Given the description of an element on the screen output the (x, y) to click on. 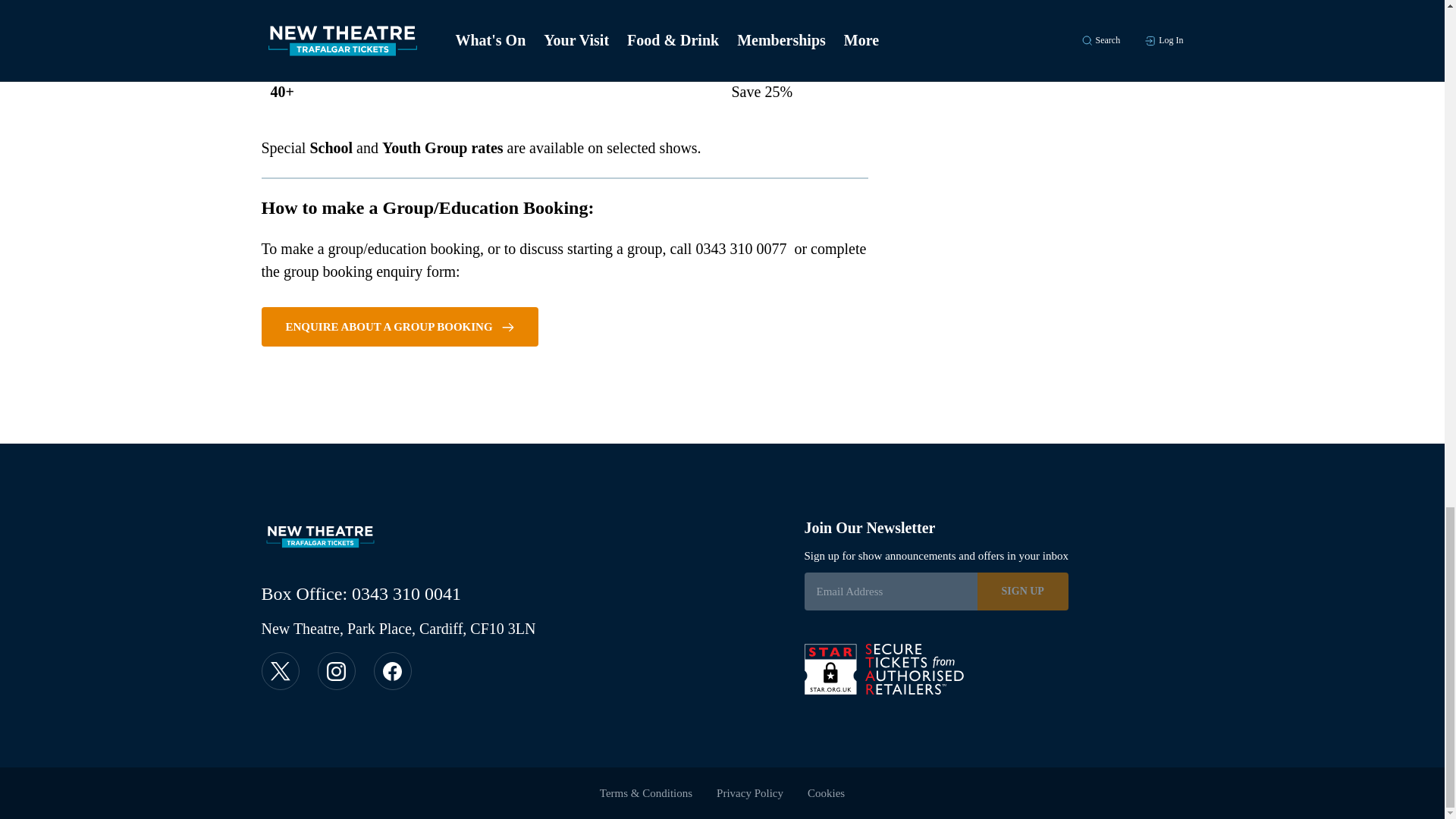
Sign Up (1022, 591)
Cookies (826, 792)
Sign Up (1022, 591)
Privacy Policy (749, 792)
ENQUIRE ABOUT A GROUP BOOKING (398, 326)
Box Office: 0343 310 0041 (360, 594)
Cookies (826, 792)
Privacy Policy (749, 792)
